Given the description of an element on the screen output the (x, y) to click on. 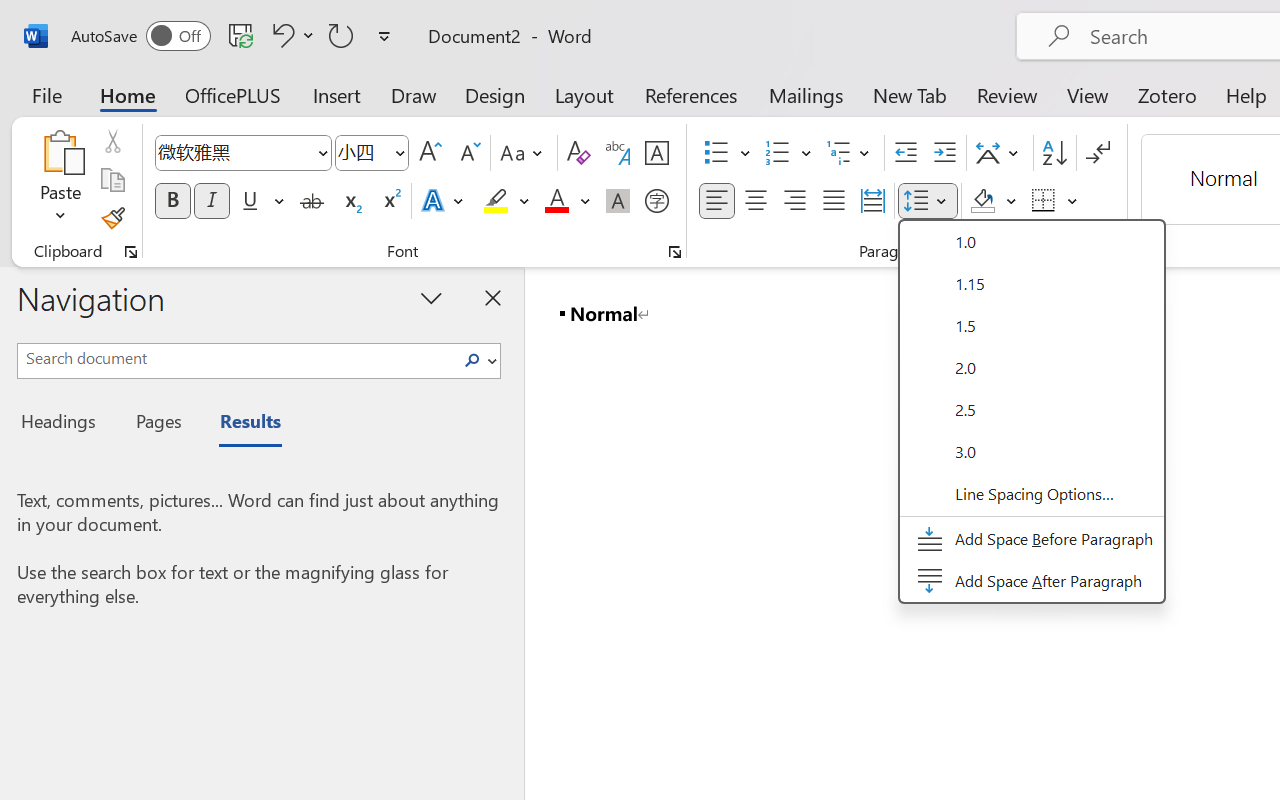
Repeat Doc Close (341, 35)
Multilevel List (850, 153)
Clear Formatting (578, 153)
Font Size (372, 153)
Font Color (567, 201)
References (690, 94)
Paste (60, 179)
Copy (112, 179)
Strikethrough (312, 201)
Task Pane Options (431, 297)
